Given the description of an element on the screen output the (x, y) to click on. 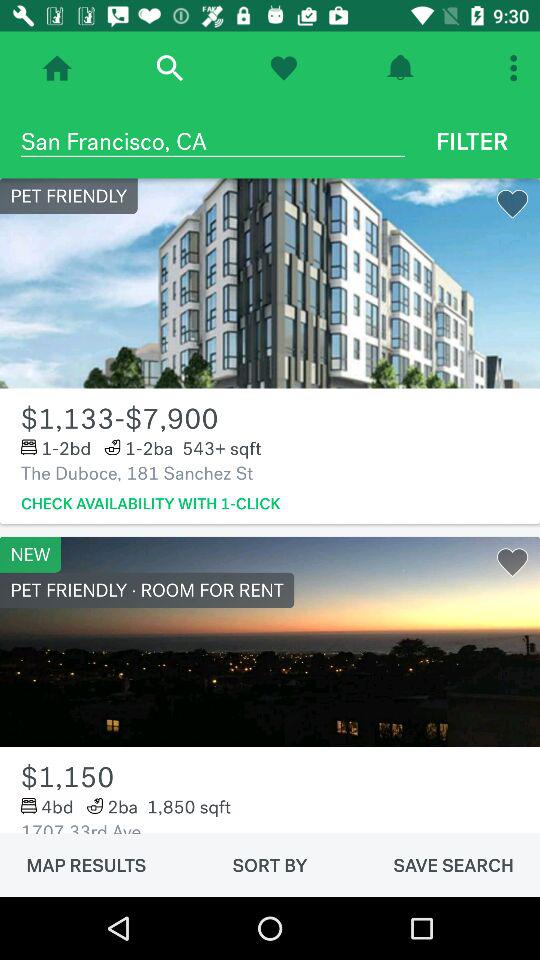
turn off item next to the sort by icon (453, 865)
